Given the description of an element on the screen output the (x, y) to click on. 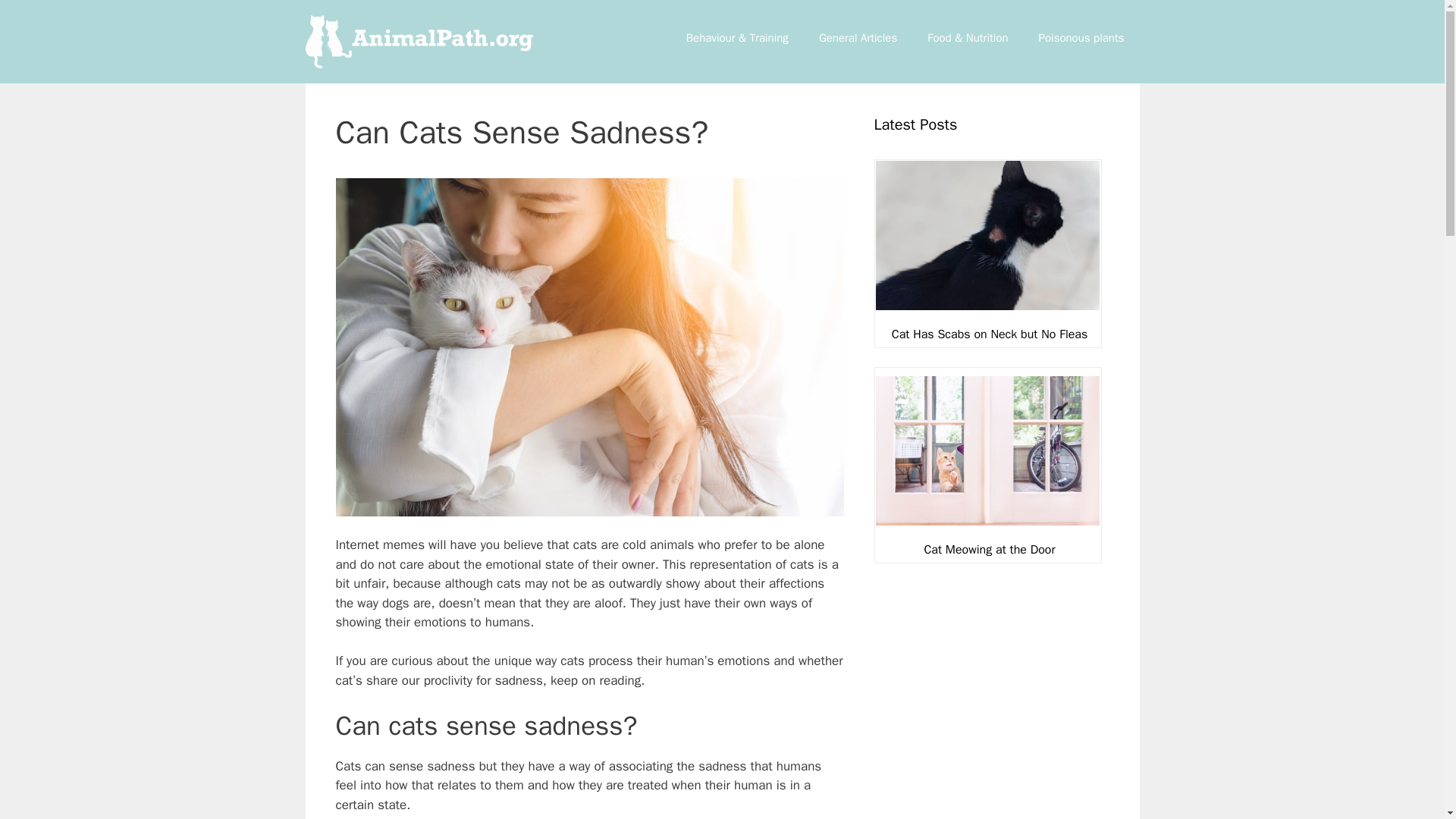
Poisonous plants (1081, 37)
General Articles (857, 37)
Cat Meowing at the Door (988, 549)
Cat Has Scabs on Neck but No Fleas (989, 334)
